Given the description of an element on the screen output the (x, y) to click on. 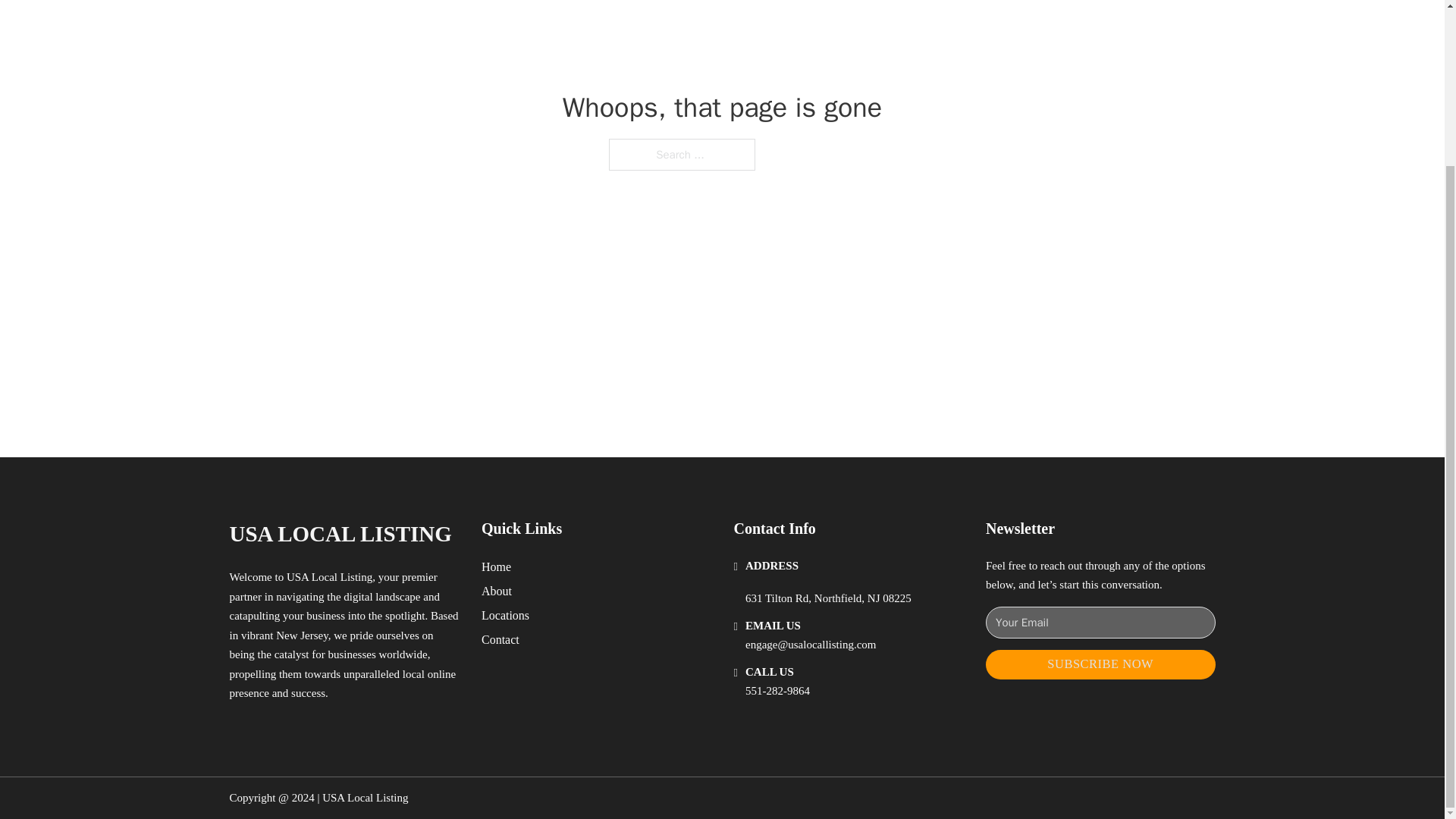
Contact (500, 639)
SUBSCRIBE NOW (1100, 664)
Home (496, 566)
551-282-9864 (777, 690)
USA LOCAL LISTING (339, 533)
About (496, 590)
Locations (505, 615)
